Given the description of an element on the screen output the (x, y) to click on. 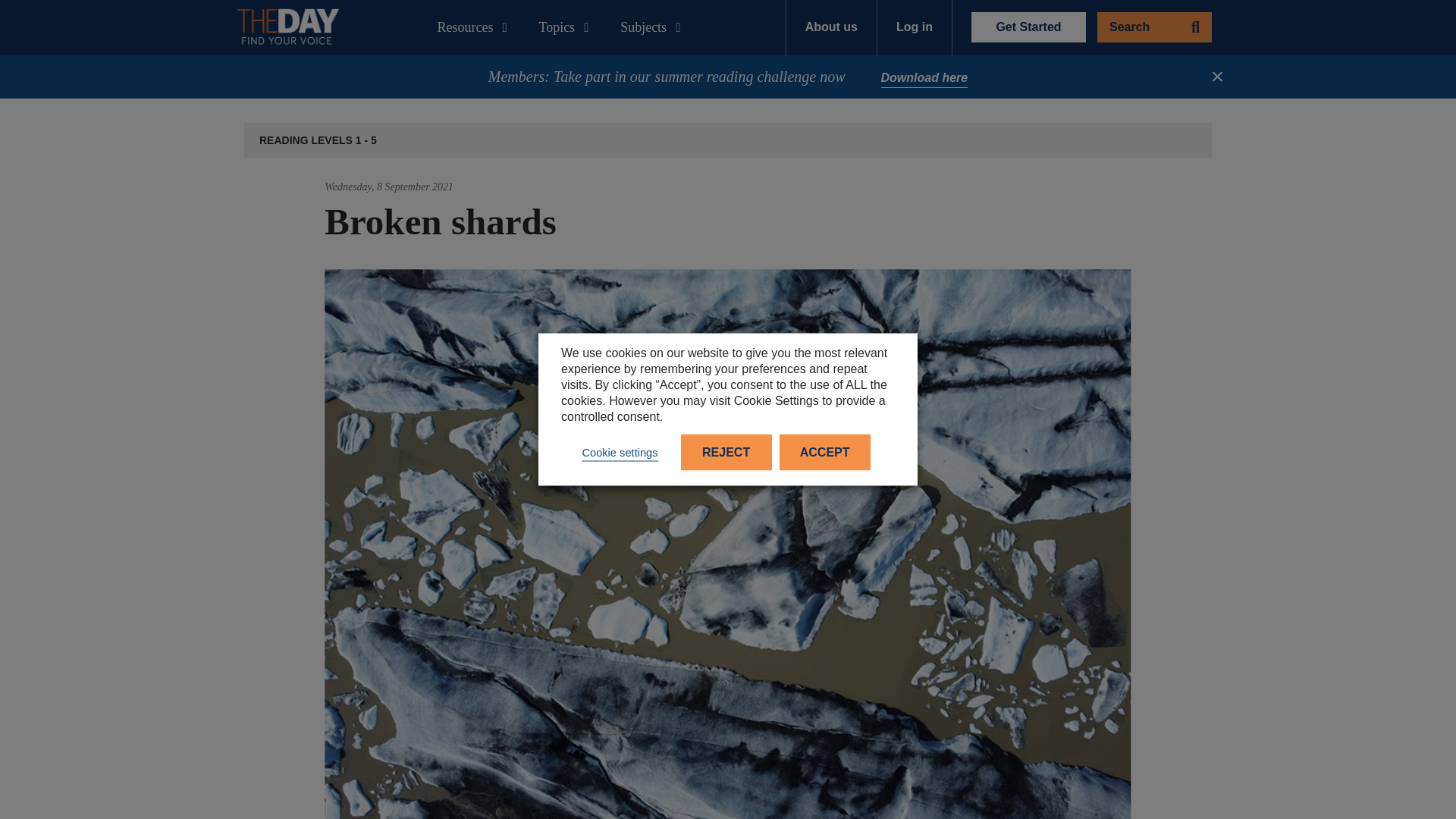
Log in (914, 27)
Get Started (1028, 27)
Resources (474, 27)
Log in (914, 27)
Subjects (653, 27)
Topics (566, 27)
Get Started (1028, 27)
Search (1154, 27)
About us (831, 27)
Search (1154, 27)
